Given the description of an element on the screen output the (x, y) to click on. 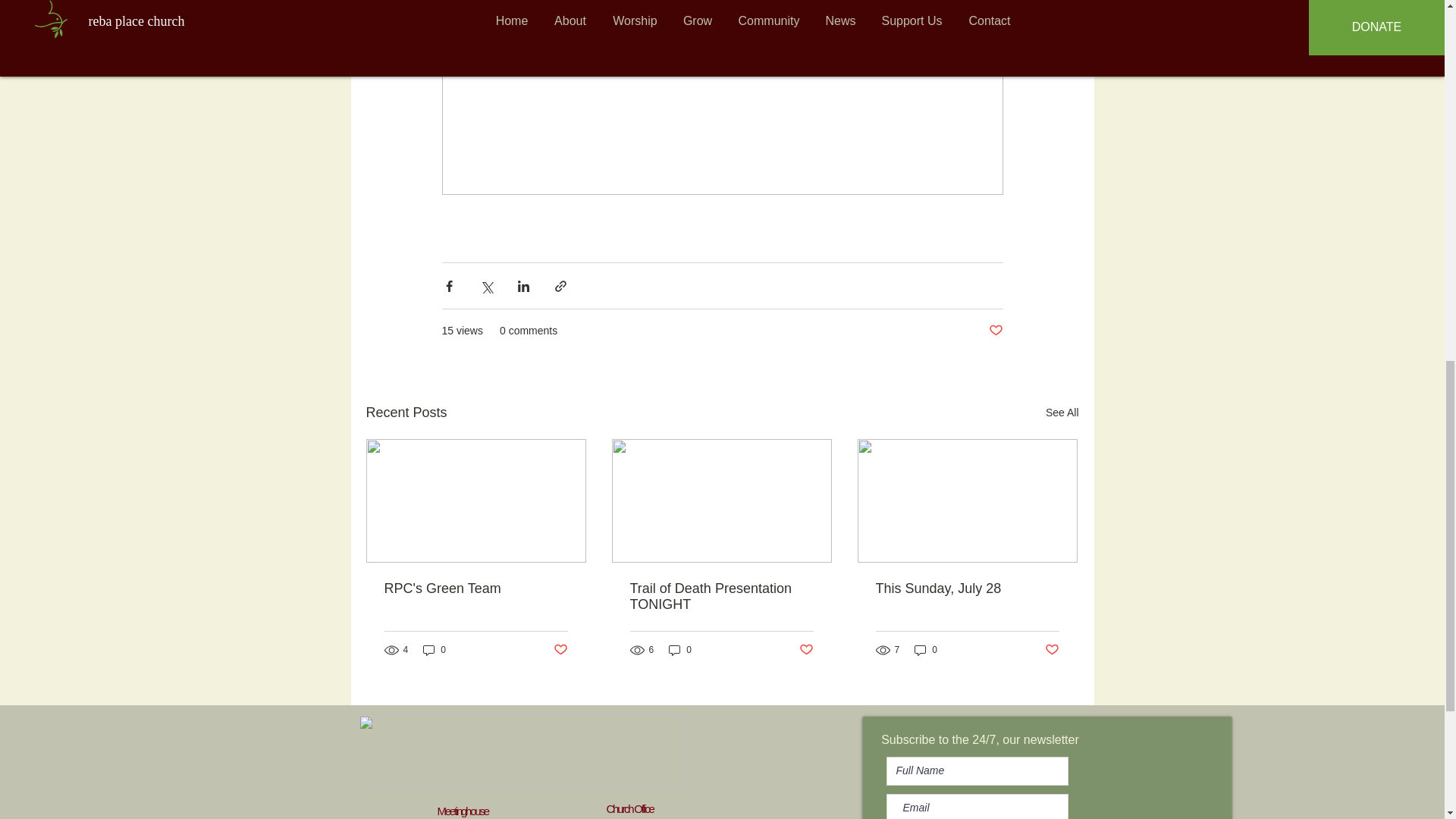
RPC's Green Team (475, 588)
Post not marked as liked (995, 330)
0 (434, 649)
RPC olive dove white RPC.png (521, 749)
0 (679, 649)
Post not marked as liked (806, 650)
See All (1061, 413)
Trail of Death Presentation TONIGHT (720, 596)
Post not marked as liked (560, 650)
